Given the description of an element on the screen output the (x, y) to click on. 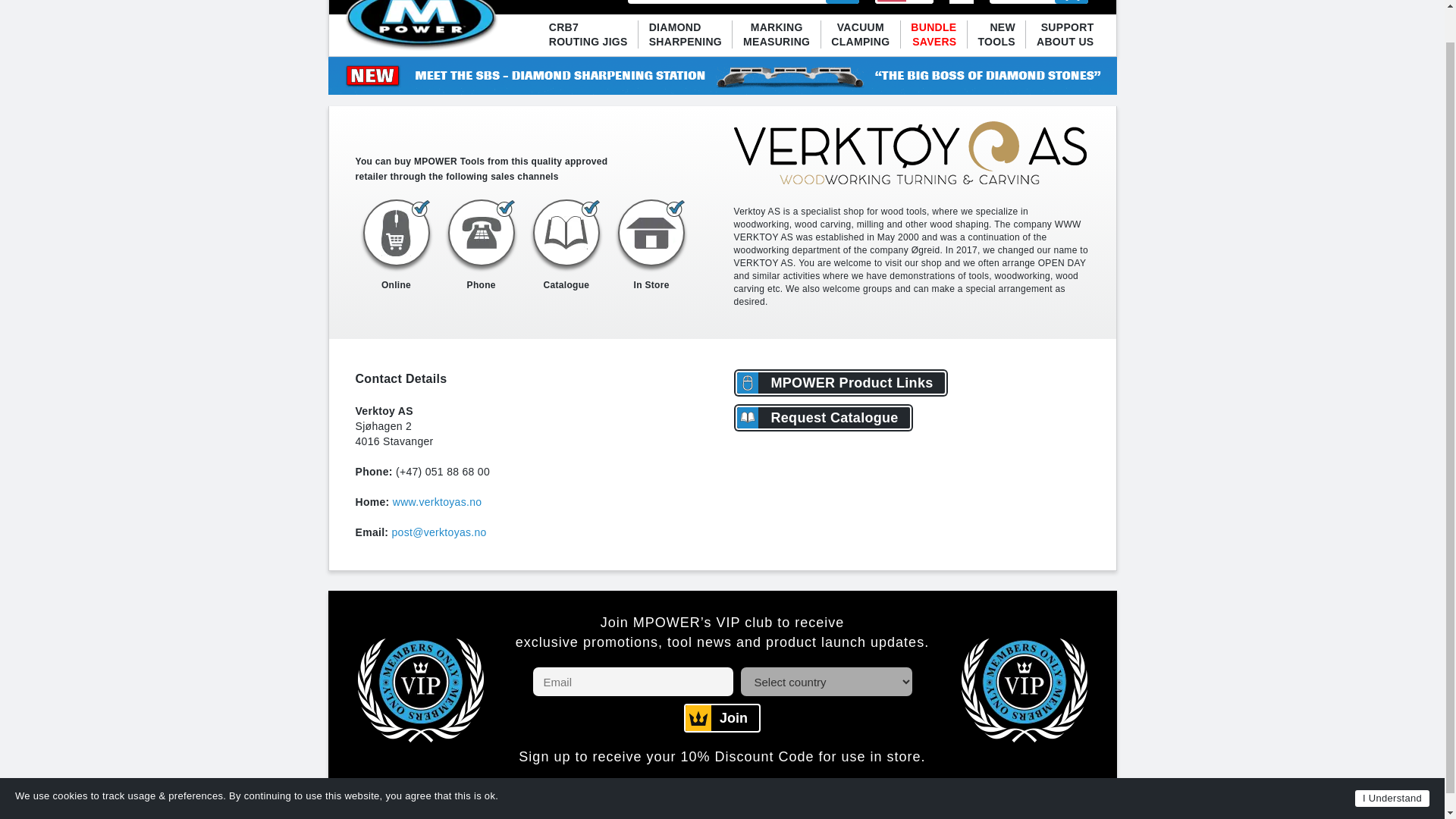
Search (588, 34)
I Understand (842, 2)
